Given the description of an element on the screen output the (x, y) to click on. 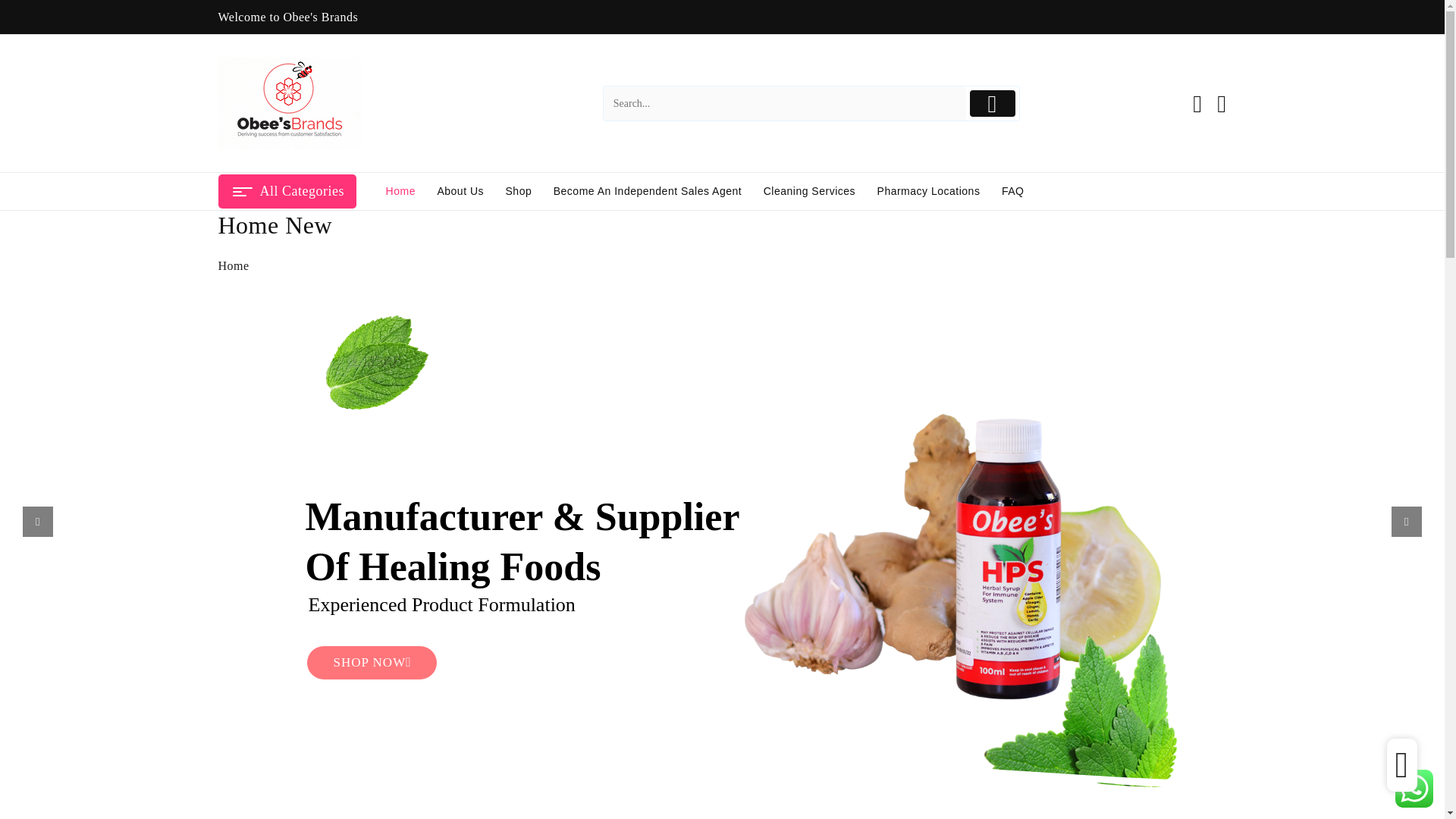
Home (401, 190)
SHOP NOW (370, 662)
Submit (992, 103)
Pharmacy Locations (928, 190)
Search (785, 103)
FAQ (1012, 190)
Cleaning Services (809, 190)
About Us (460, 190)
Shop (518, 190)
Become An Independent Sales Agent (647, 190)
